Given the description of an element on the screen output the (x, y) to click on. 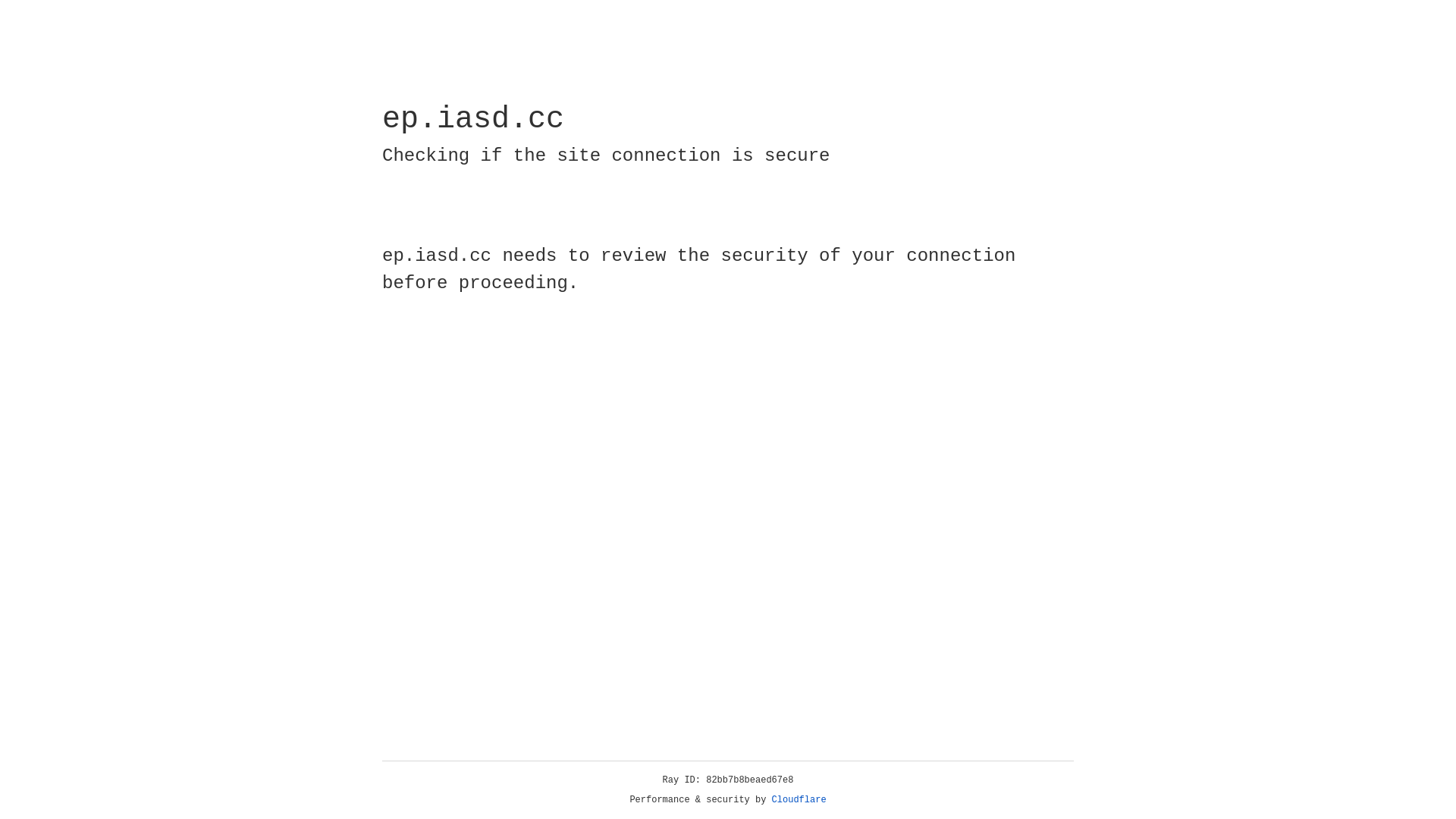
Cloudflare Element type: text (798, 799)
